Given the description of an element on the screen output the (x, y) to click on. 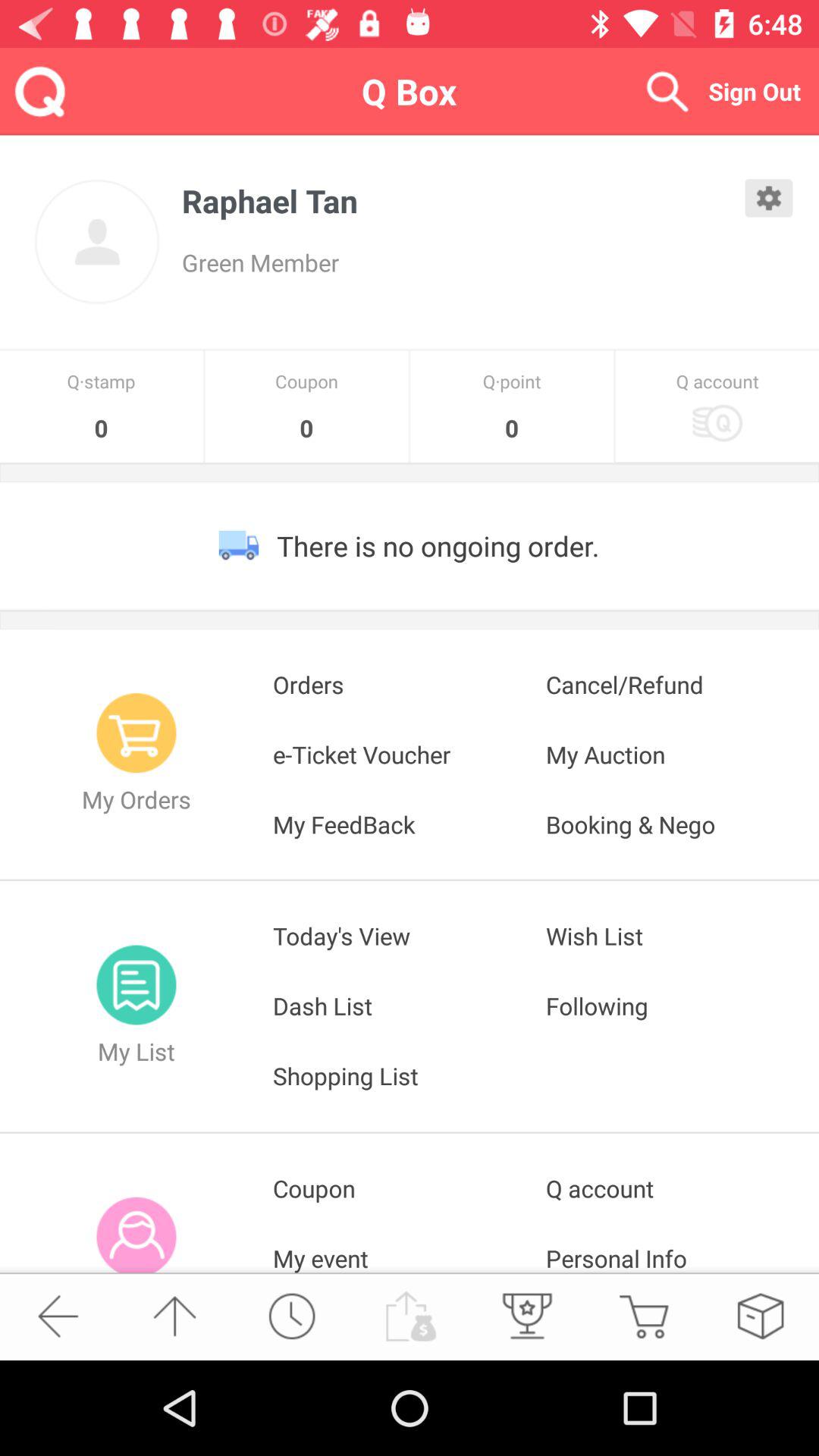
jump to the cancel/refund (682, 684)
